Given the description of an element on the screen output the (x, y) to click on. 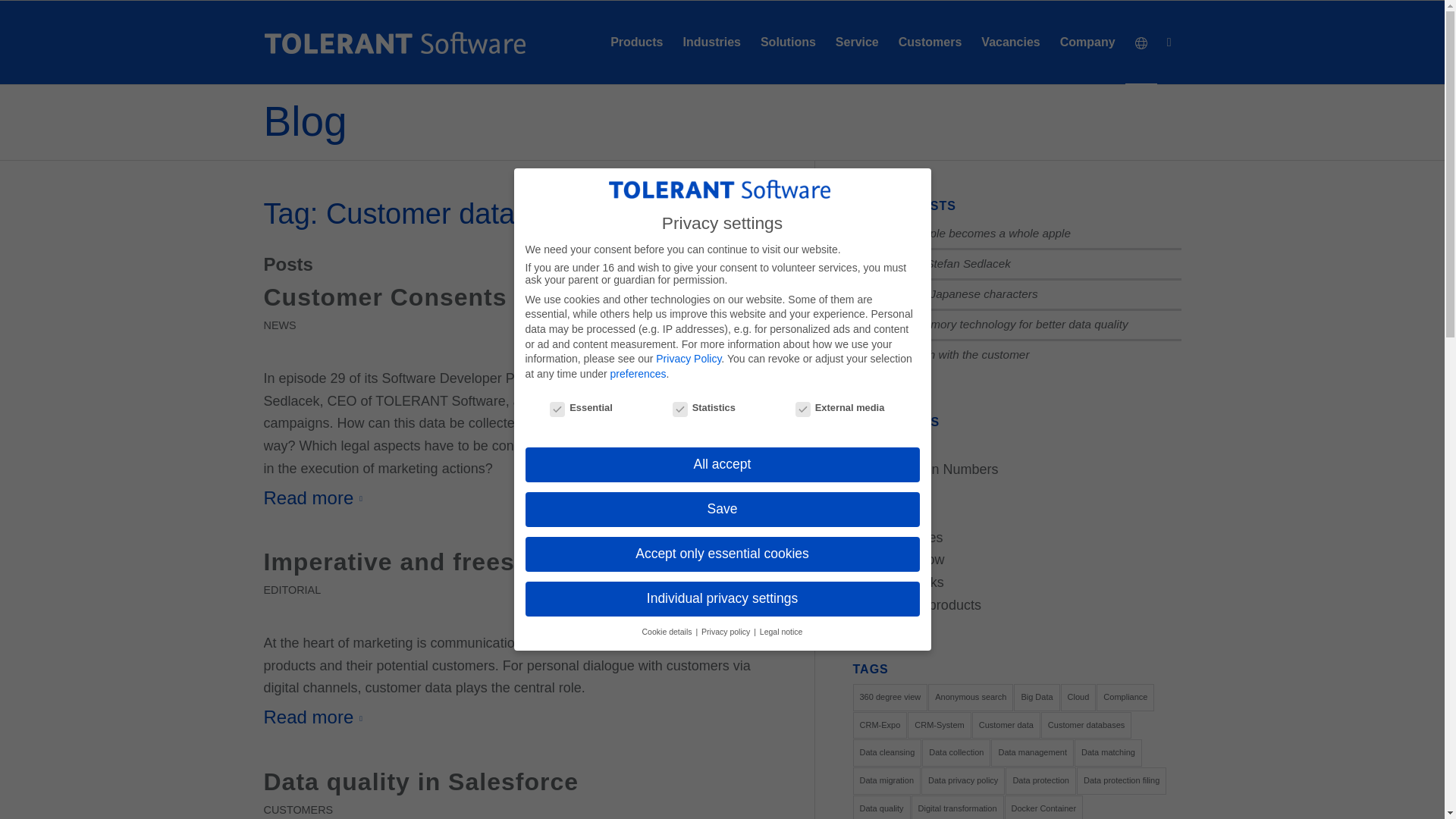
Permanent Link: Imperative and freestyle in marketing (491, 561)
tolerant-software-logo-h60 (394, 42)
Service (856, 42)
Permanent Link: Customer Consents (384, 297)
Industries (710, 42)
Solutions (788, 42)
Products (635, 42)
tolerant-software-logo-h60 (394, 42)
Permanent Link: Data quality in Salesforce (420, 781)
